Given the description of an element on the screen output the (x, y) to click on. 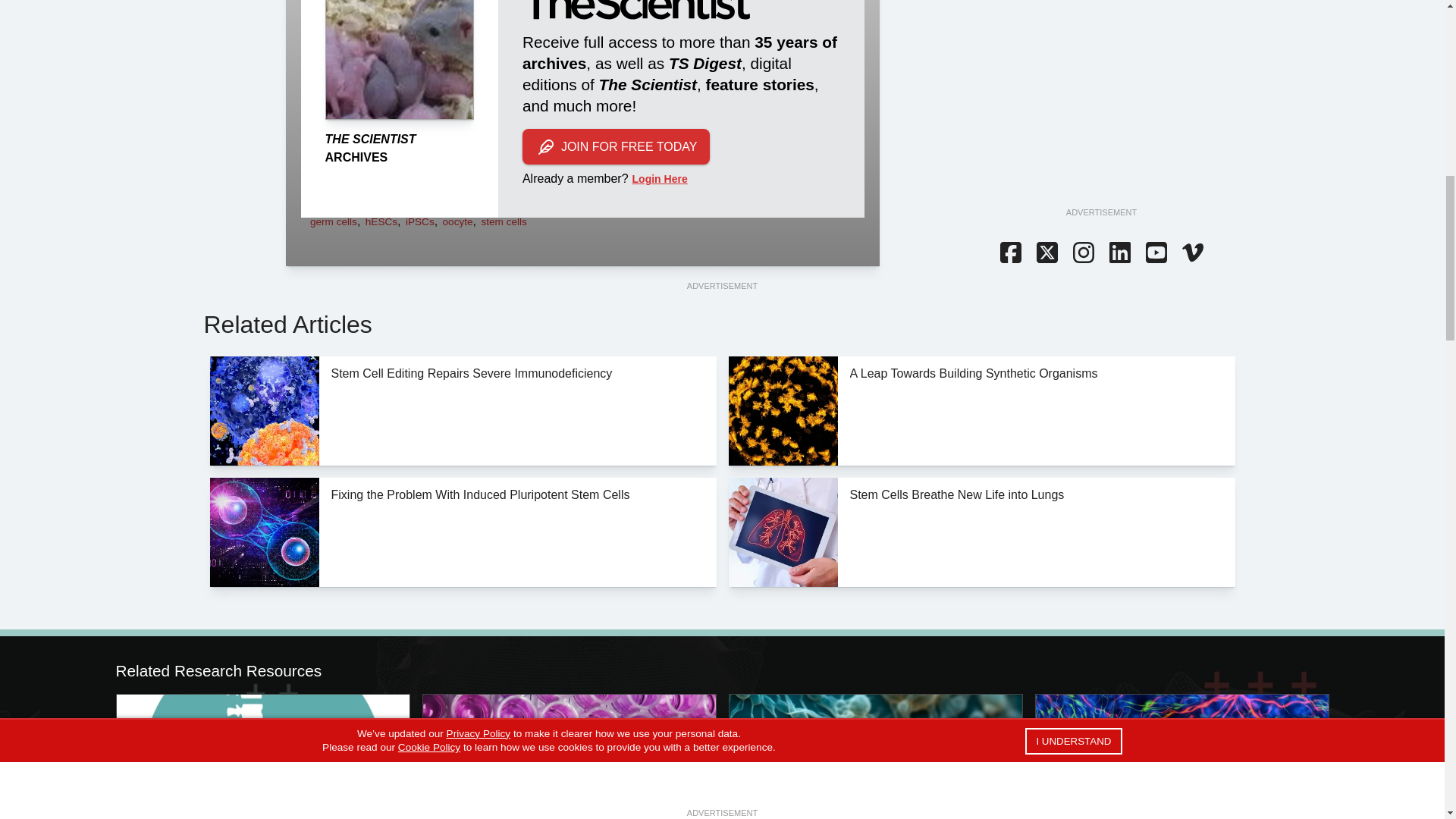
Instagram (1082, 253)
3rd party ad content (1100, 95)
YouTube (1155, 253)
Twitter (1045, 253)
LinkedIn (1118, 253)
Facebook (1009, 253)
